Given the description of an element on the screen output the (x, y) to click on. 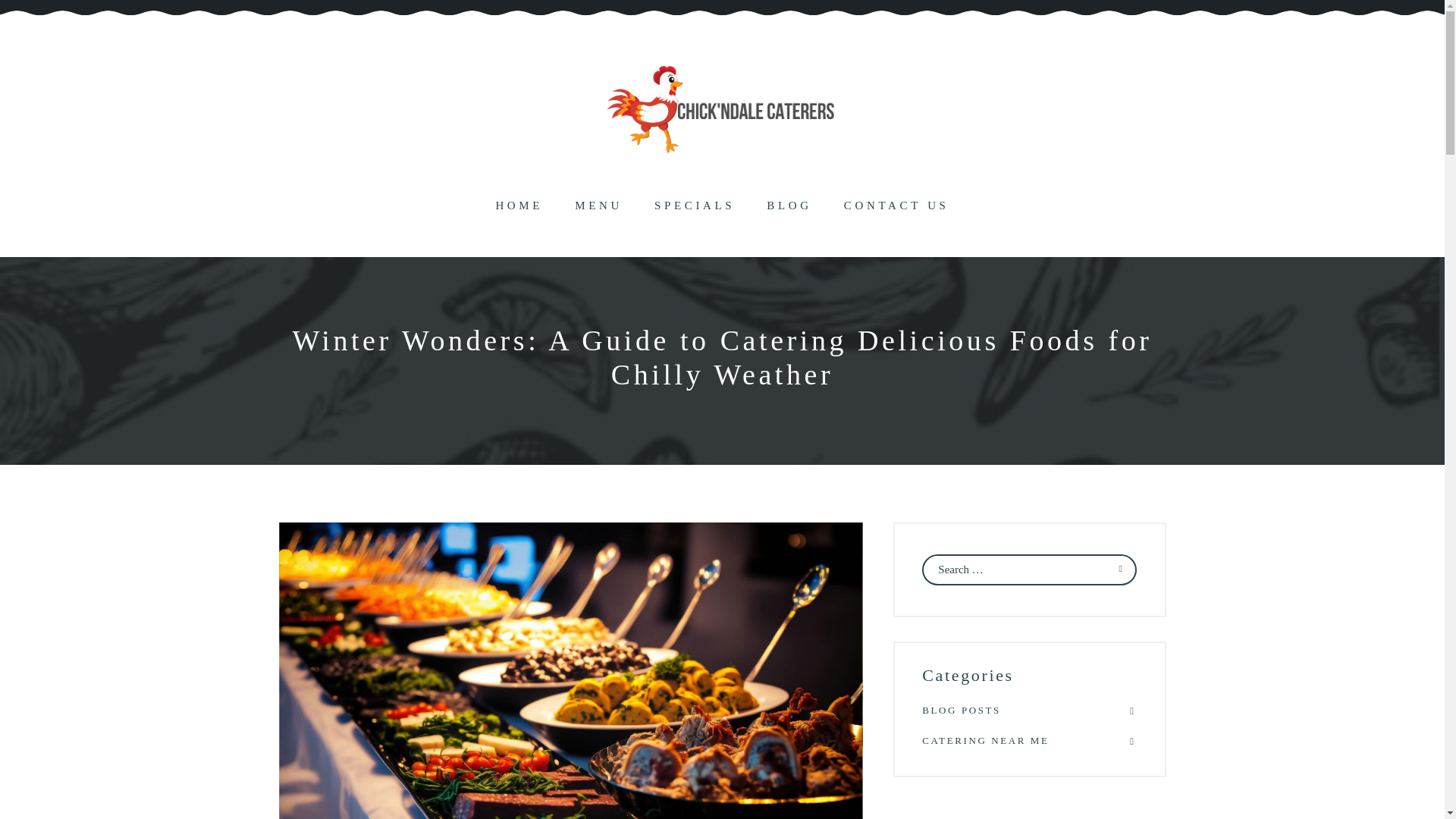
BLOG (789, 205)
BLOG POSTS (1028, 710)
SPECIALS (695, 205)
Search for: (1028, 569)
HOME (519, 205)
CONTACT US (896, 205)
MENU (599, 205)
CATERING NEAR ME (1028, 740)
